Given the description of an element on the screen output the (x, y) to click on. 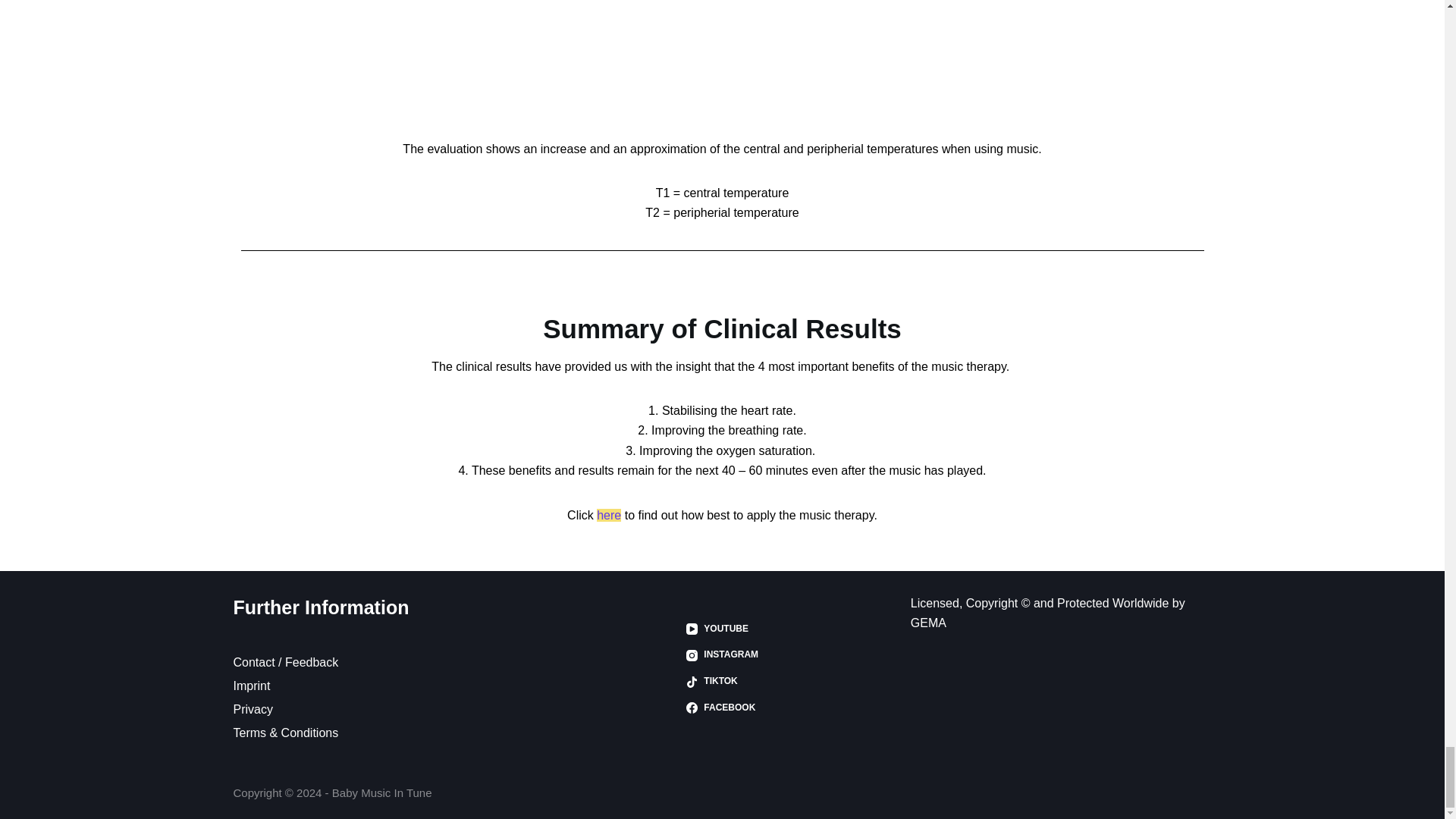
here (608, 514)
Privacy (252, 708)
Imprint (251, 685)
